Given the description of an element on the screen output the (x, y) to click on. 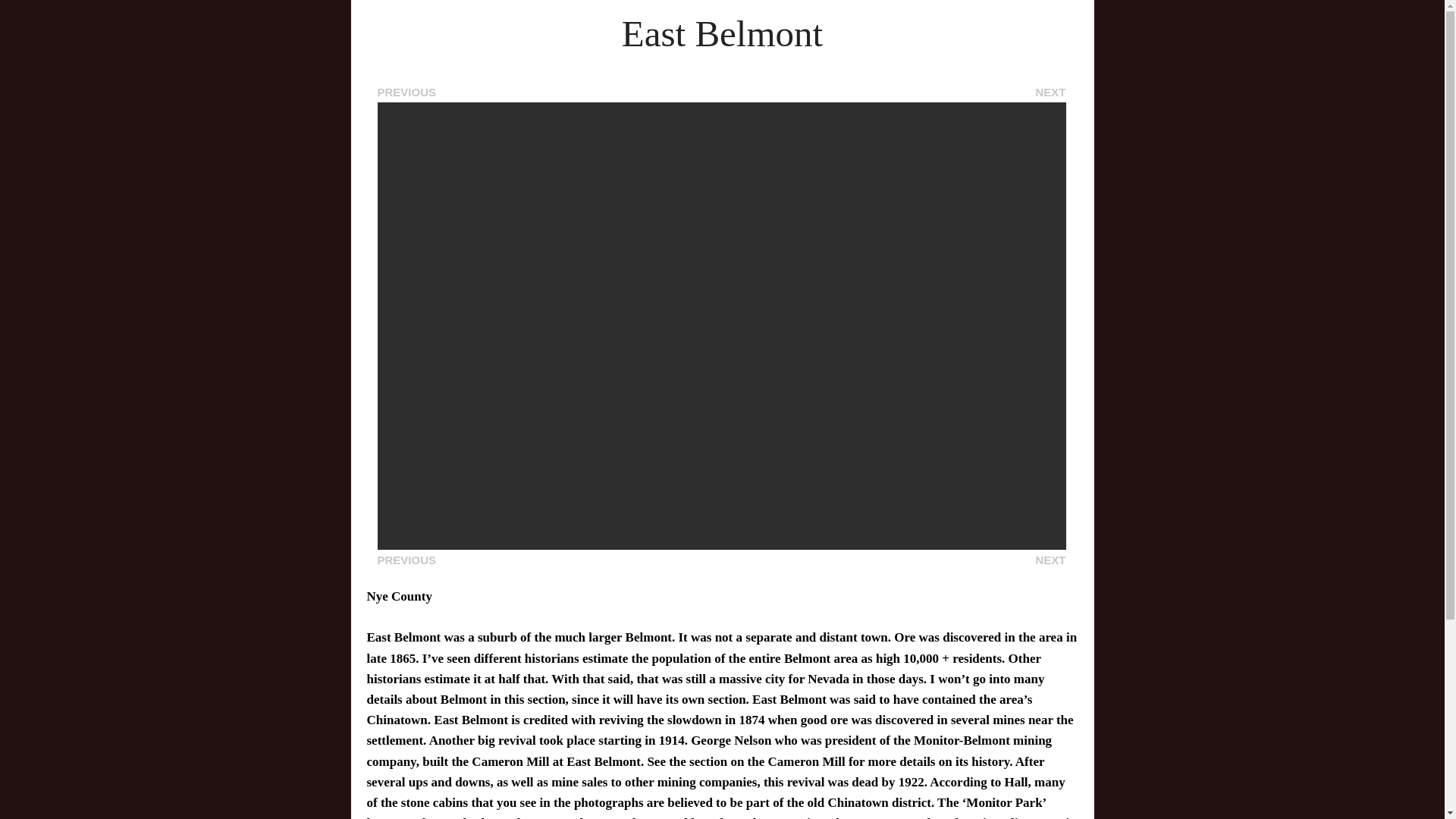
PREVIOUS (406, 91)
PREVIOUS (406, 559)
NEXT (1049, 559)
NEXT (1049, 91)
